Given the description of an element on the screen output the (x, y) to click on. 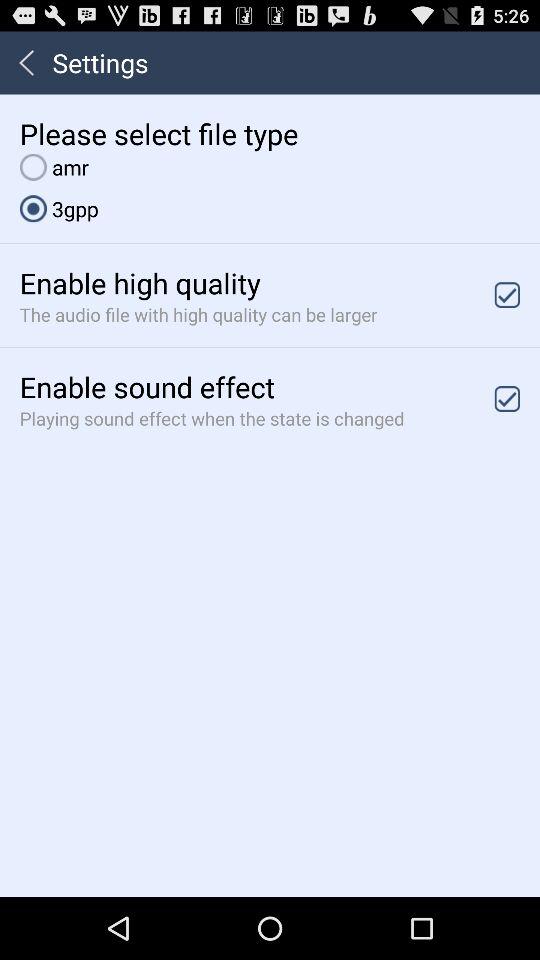
launch the icon next to settings item (26, 62)
